Given the description of an element on the screen output the (x, y) to click on. 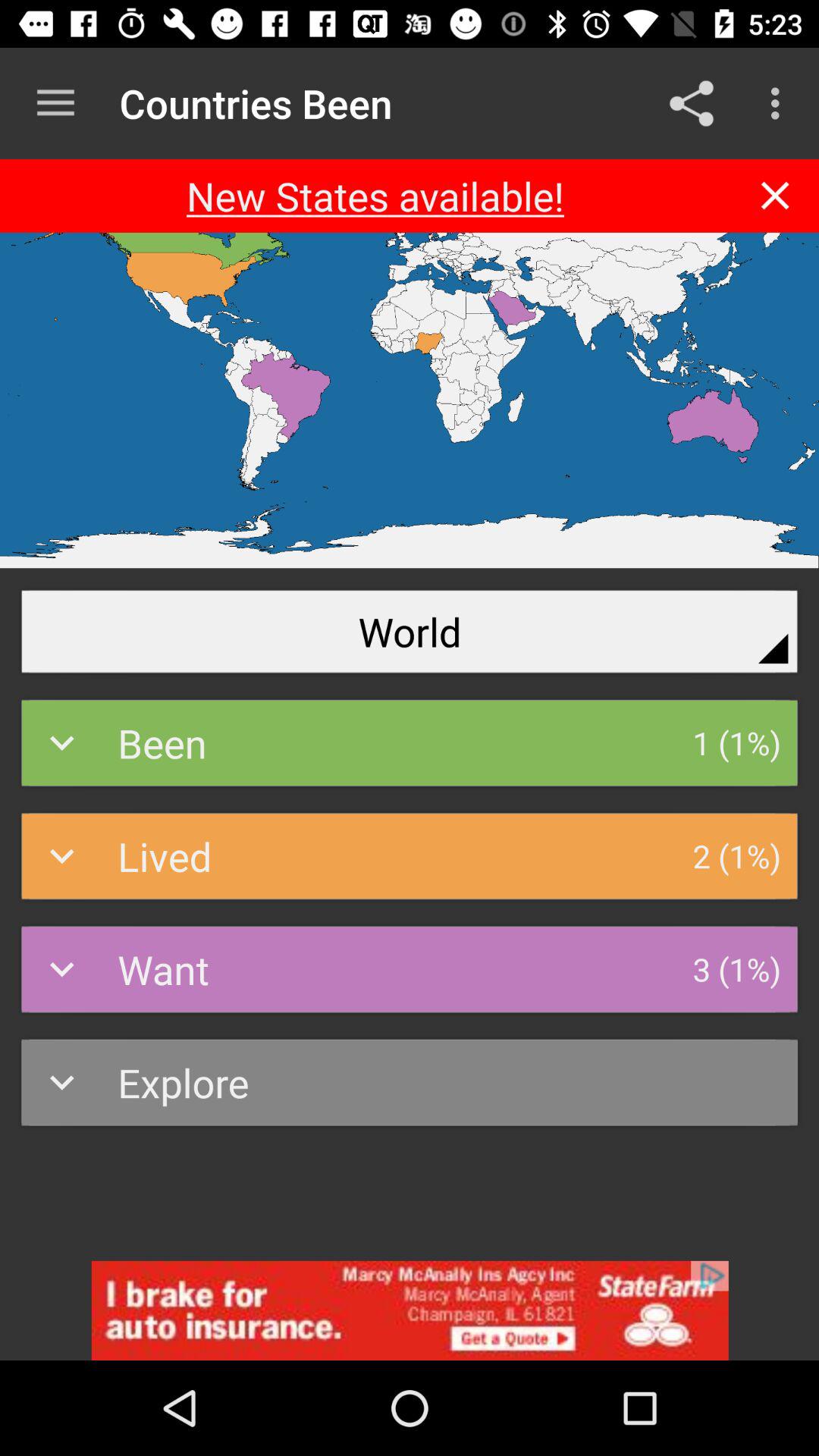
advertisement link (409, 1310)
